Given the description of an element on the screen output the (x, y) to click on. 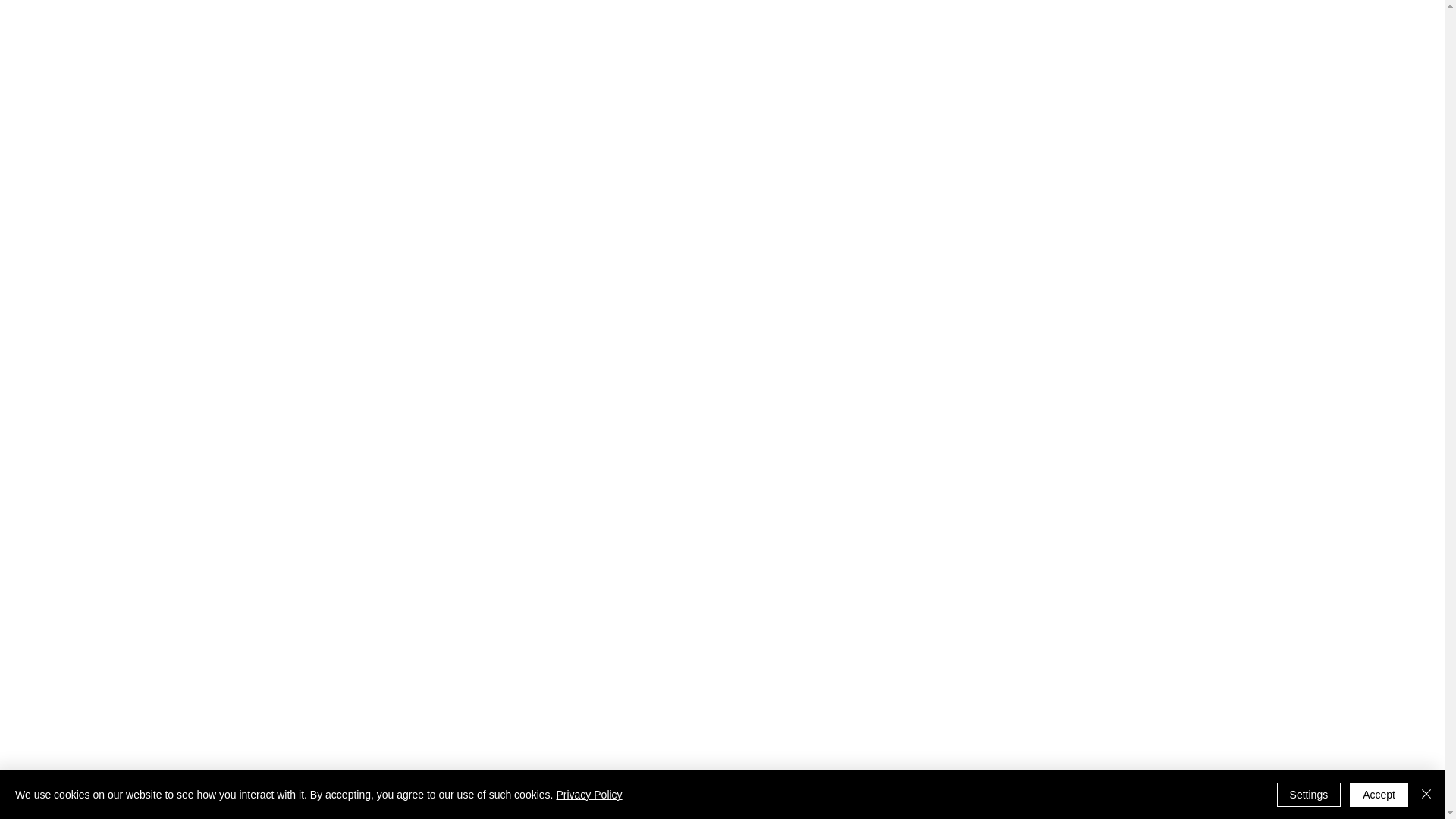
Settings (1308, 794)
Privacy Policy (588, 794)
Accept (1378, 794)
